Given the description of an element on the screen output the (x, y) to click on. 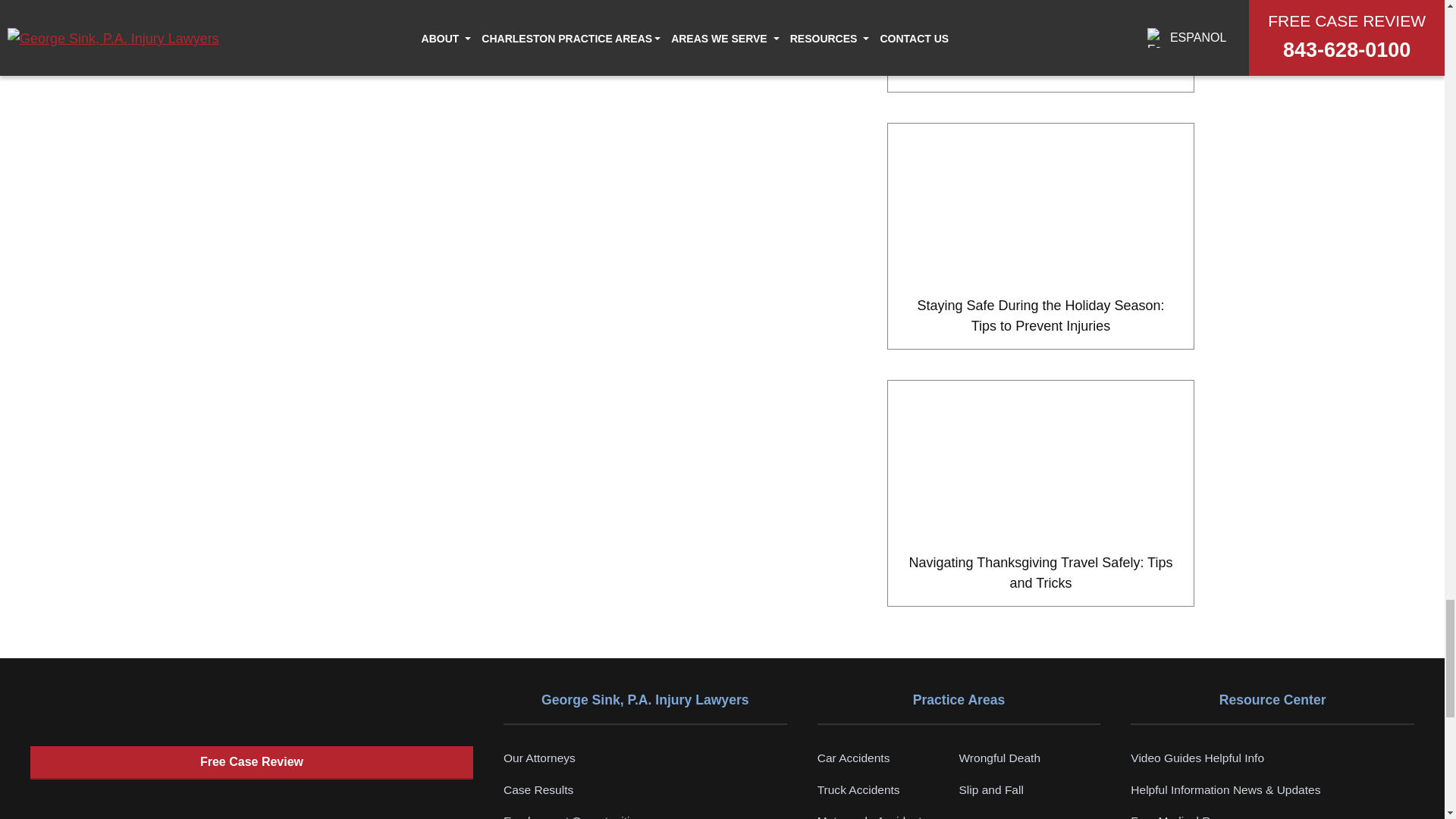
Navigating Thanksgiving Travel Safely: Tips and Tricks (1040, 493)
Navigating Thanksgiving Travel Safely: Tips and Tricks (1040, 460)
